Given the description of an element on the screen output the (x, y) to click on. 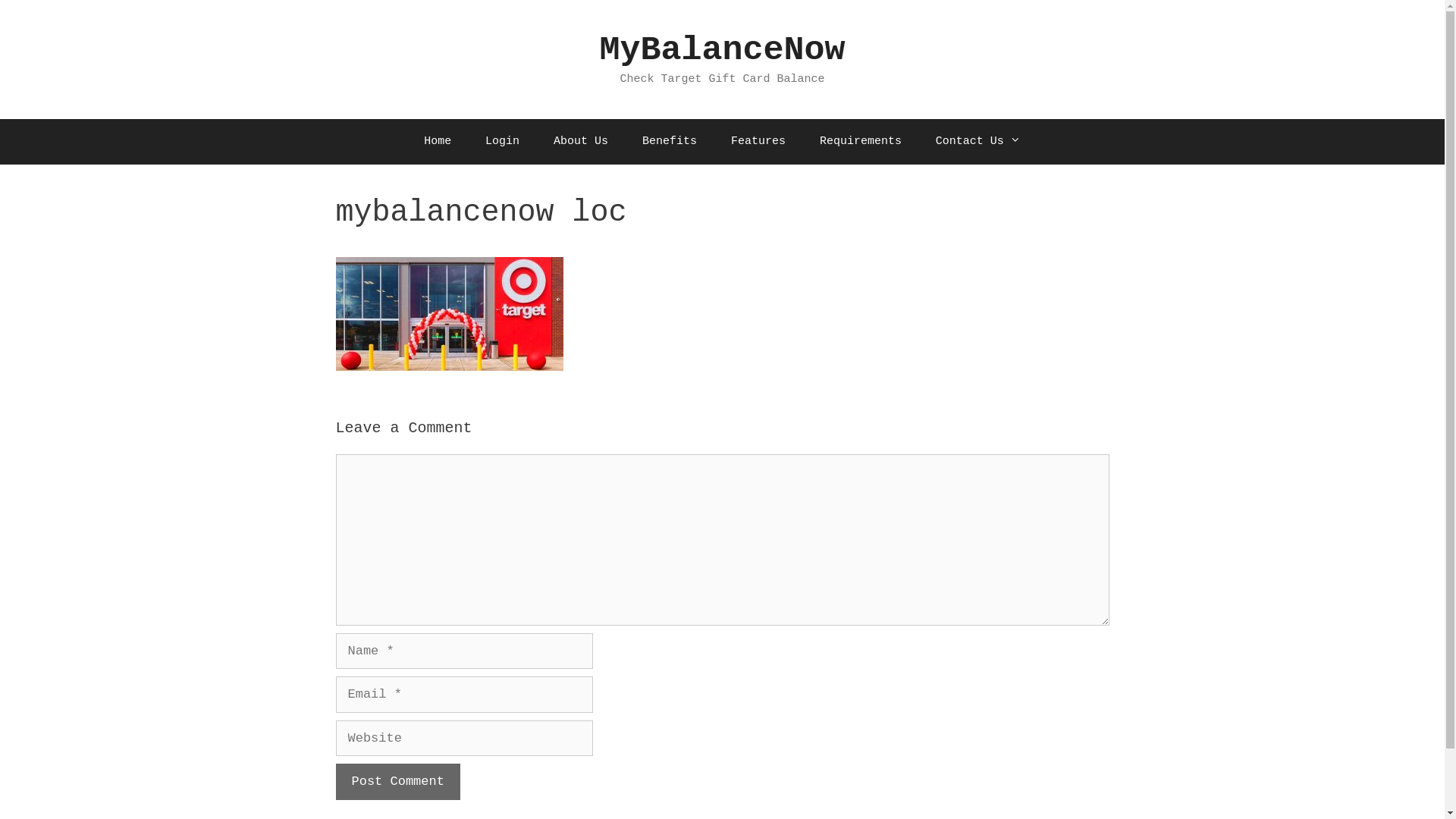
Contact Us Element type: text (977, 140)
Requirements Element type: text (860, 140)
Benefits Element type: text (669, 140)
Post Comment Element type: text (397, 781)
MyBalanceNow Element type: text (721, 50)
Login Element type: text (502, 140)
Features Element type: text (757, 140)
Home Element type: text (437, 140)
About Us Element type: text (580, 140)
